Given the description of an element on the screen output the (x, y) to click on. 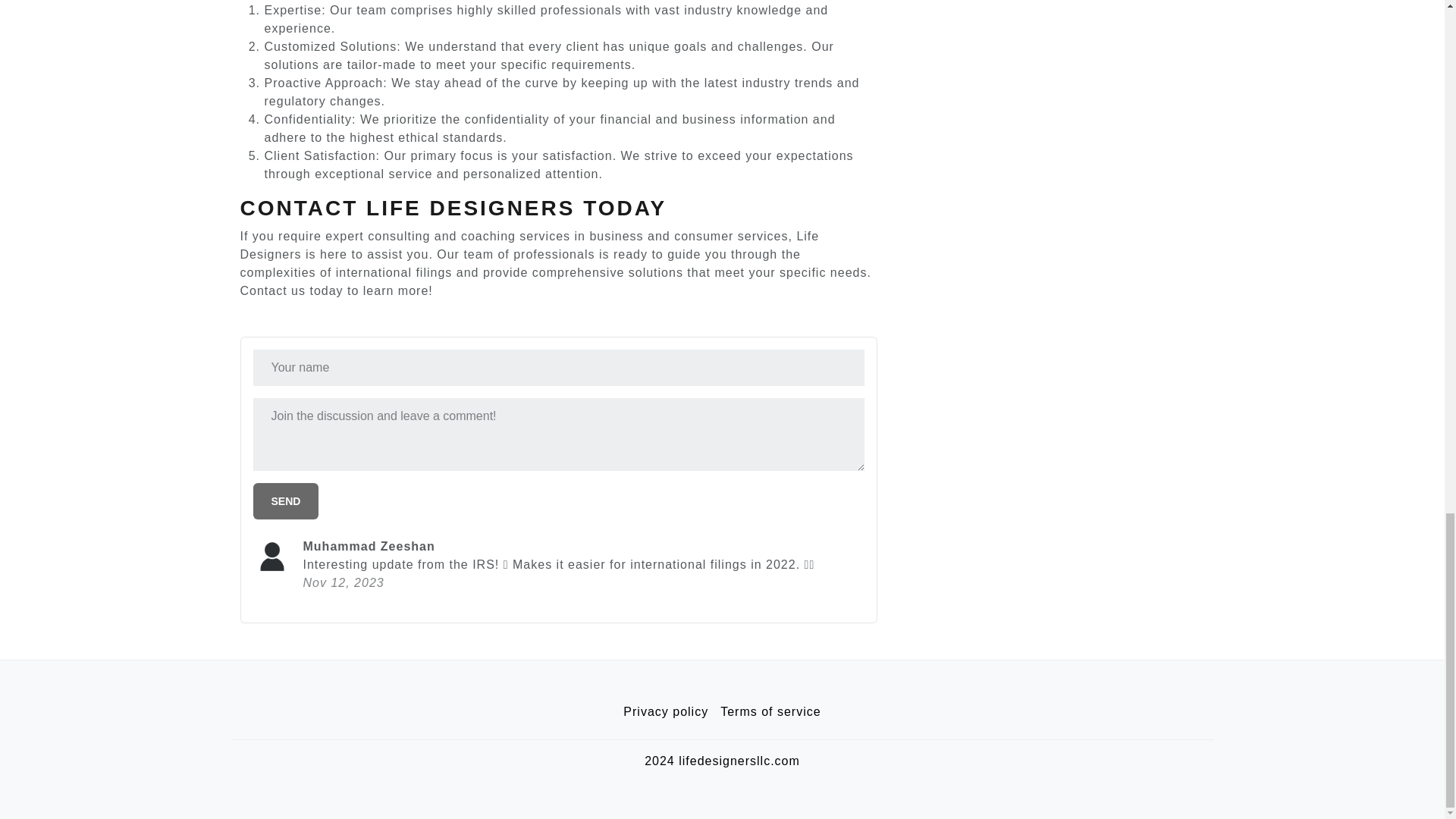
Terms of service (770, 711)
Privacy policy (665, 711)
Send (285, 501)
Send (285, 501)
